Given the description of an element on the screen output the (x, y) to click on. 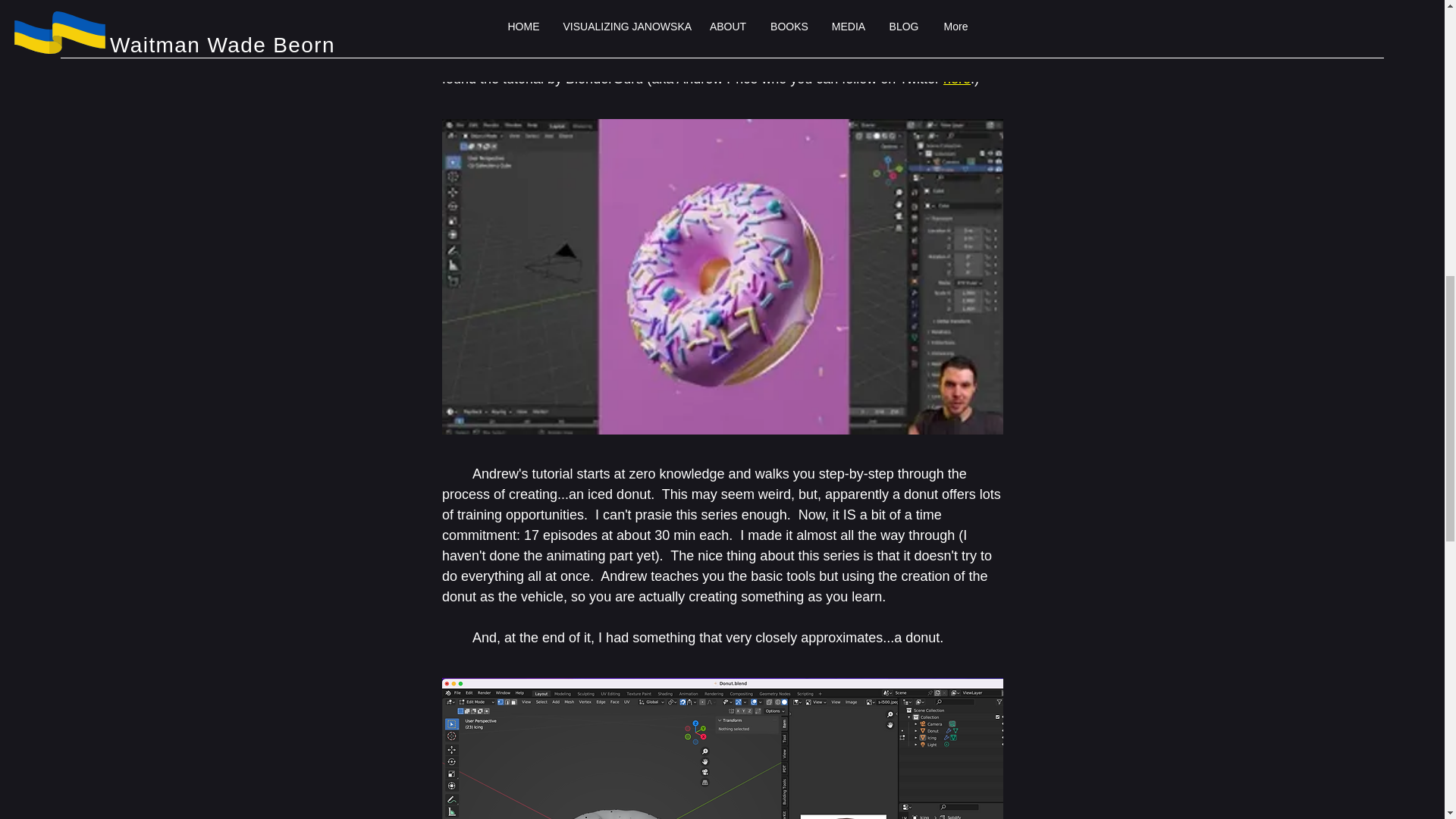
Blender (759, 2)
here (957, 78)
